Given the description of an element on the screen output the (x, y) to click on. 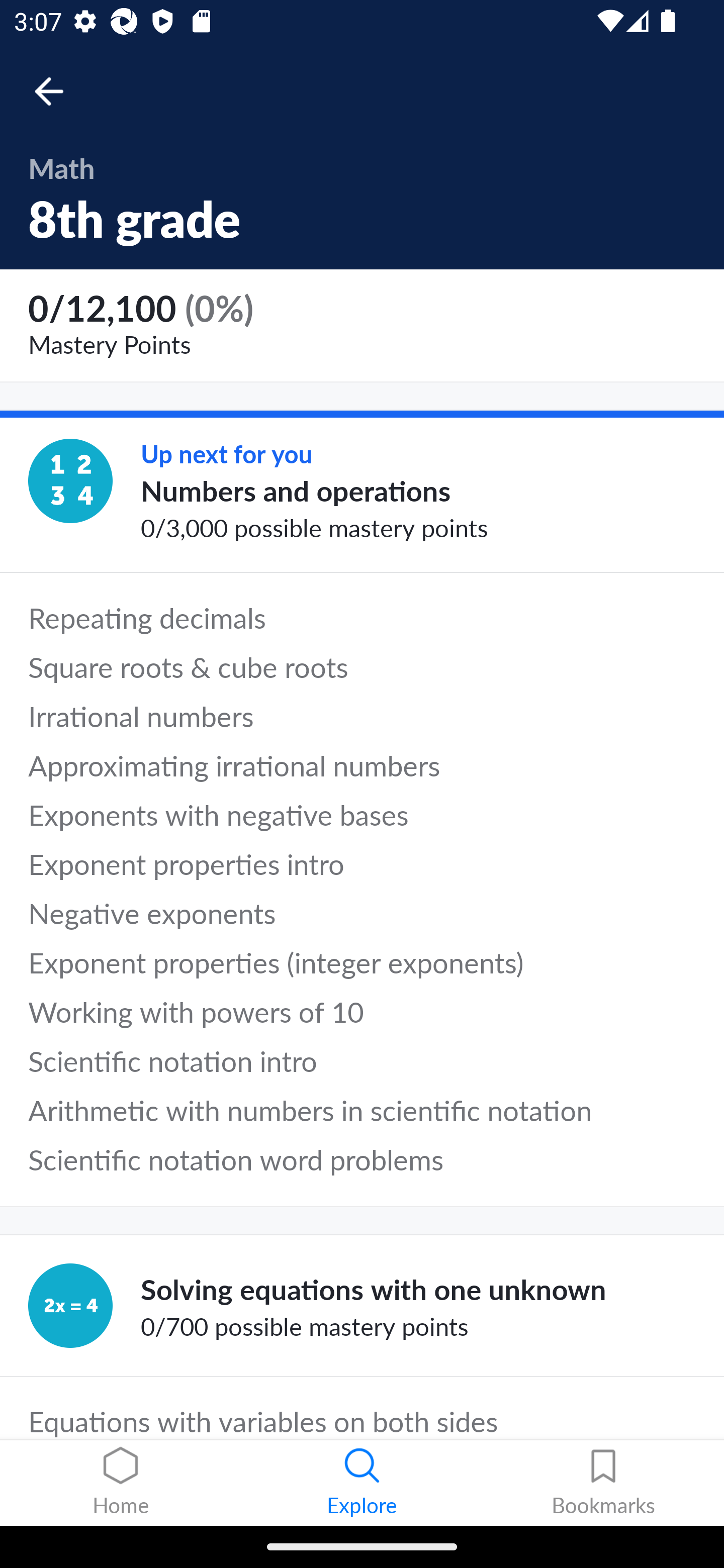
Back (58, 91)
Equations with variables on both sides (362, 1407)
Home (120, 1482)
Explore (361, 1482)
Bookmarks (603, 1482)
